Given the description of an element on the screen output the (x, y) to click on. 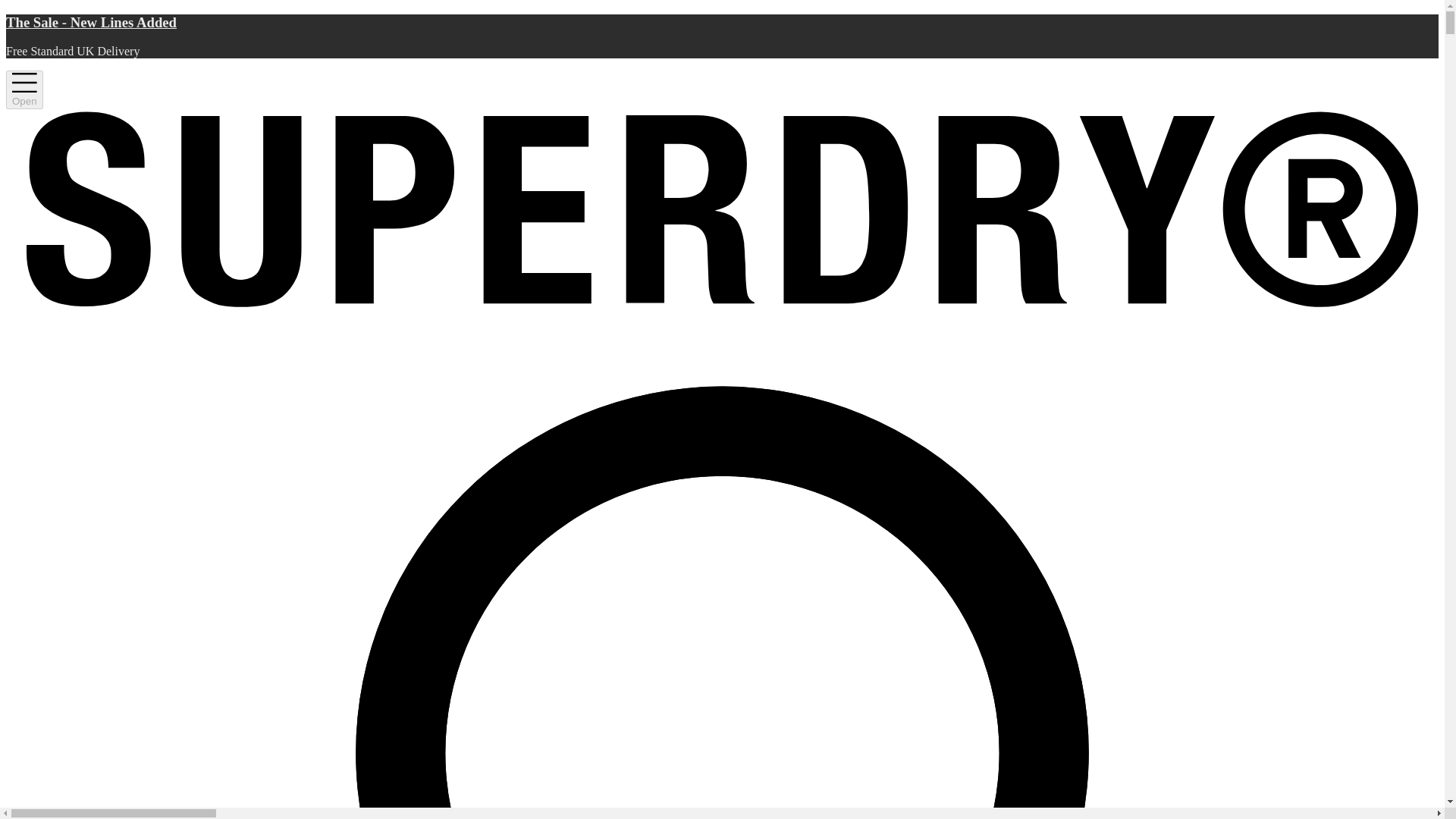
Open (24, 89)
Open (24, 89)
The Sale - New Lines Added (721, 22)
Hamburger (24, 89)
